Given the description of an element on the screen output the (x, y) to click on. 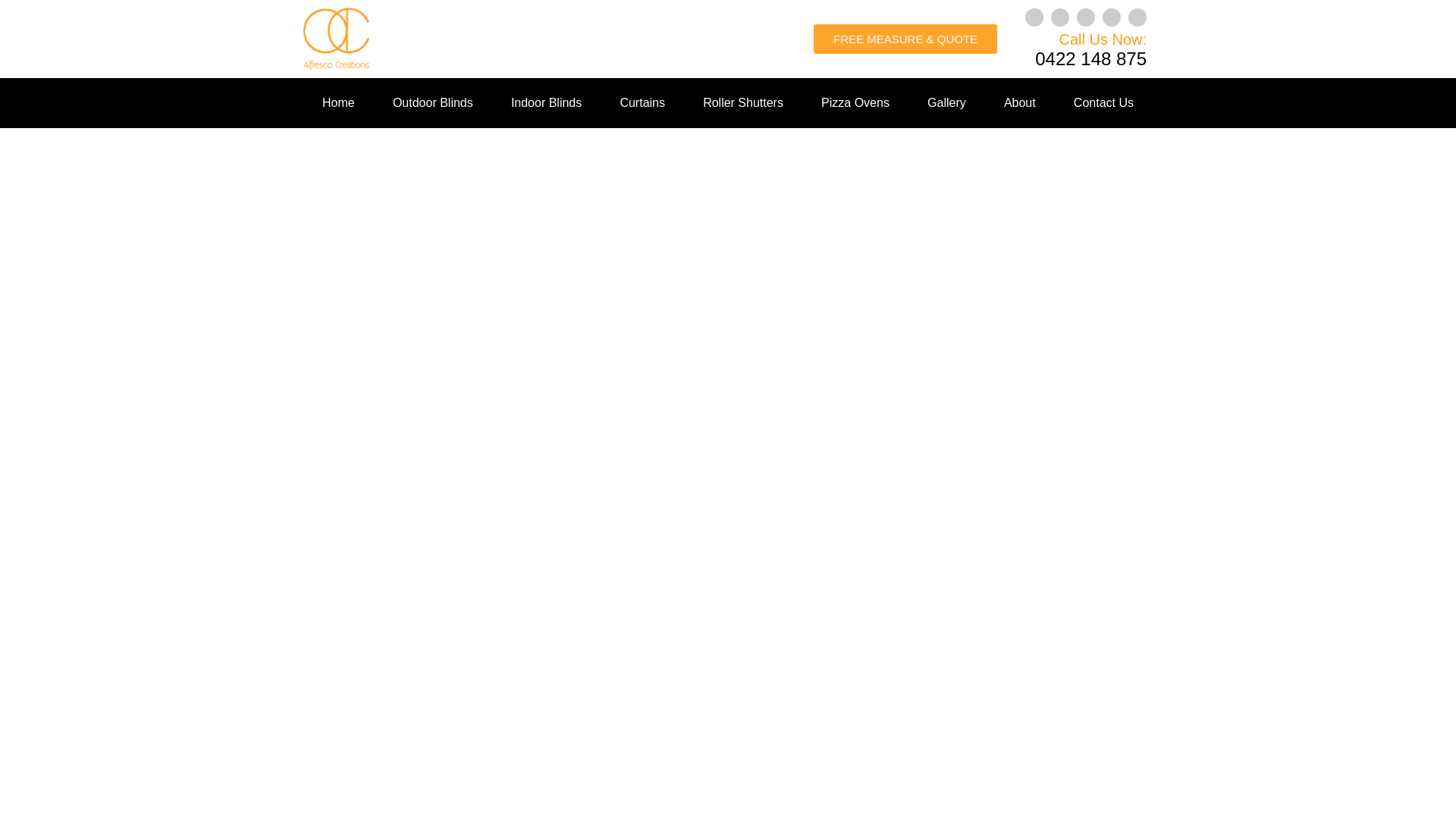
Outdoor Blinds (433, 102)
Home (338, 102)
Curtains (641, 102)
Pizza Ovens (855, 102)
Indoor Blinds (546, 102)
Gallery (946, 102)
Roller Shutters (743, 102)
About (1019, 102)
0422 148 875 (1091, 58)
